Given the description of an element on the screen output the (x, y) to click on. 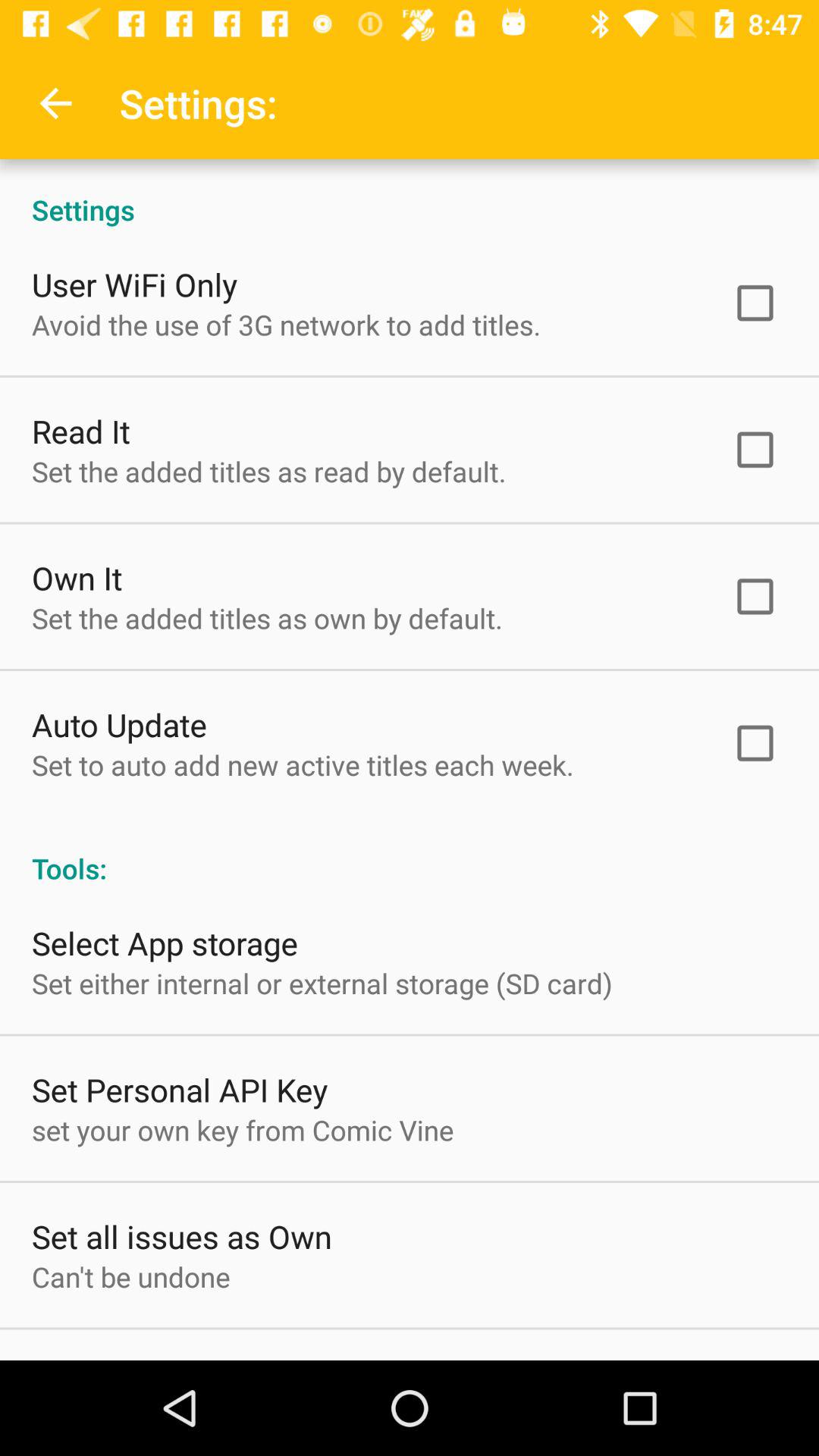
scroll until set all issues item (181, 1236)
